Given the description of an element on the screen output the (x, y) to click on. 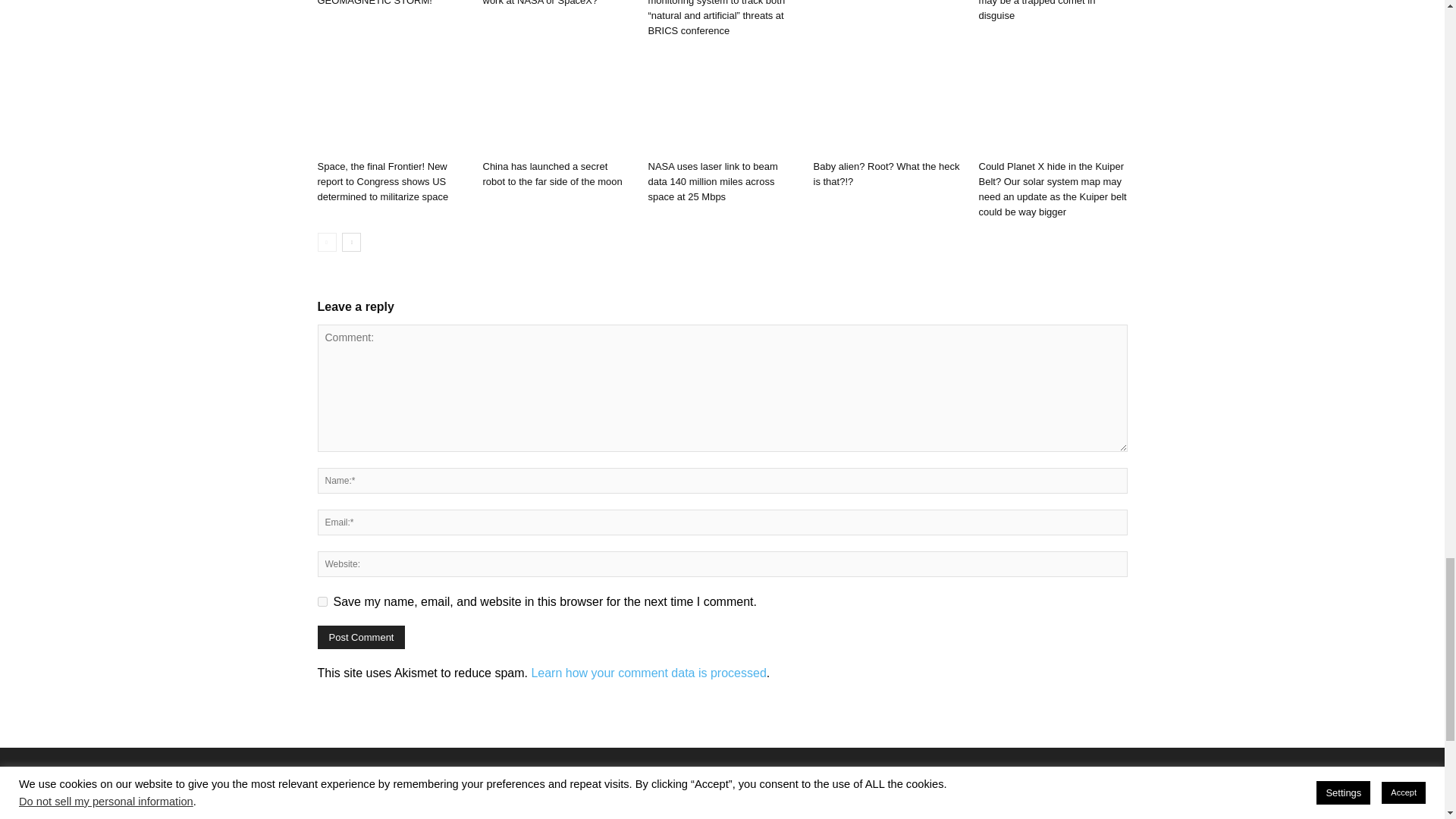
Post Comment (360, 637)
yes (321, 601)
